Given the description of an element on the screen output the (x, y) to click on. 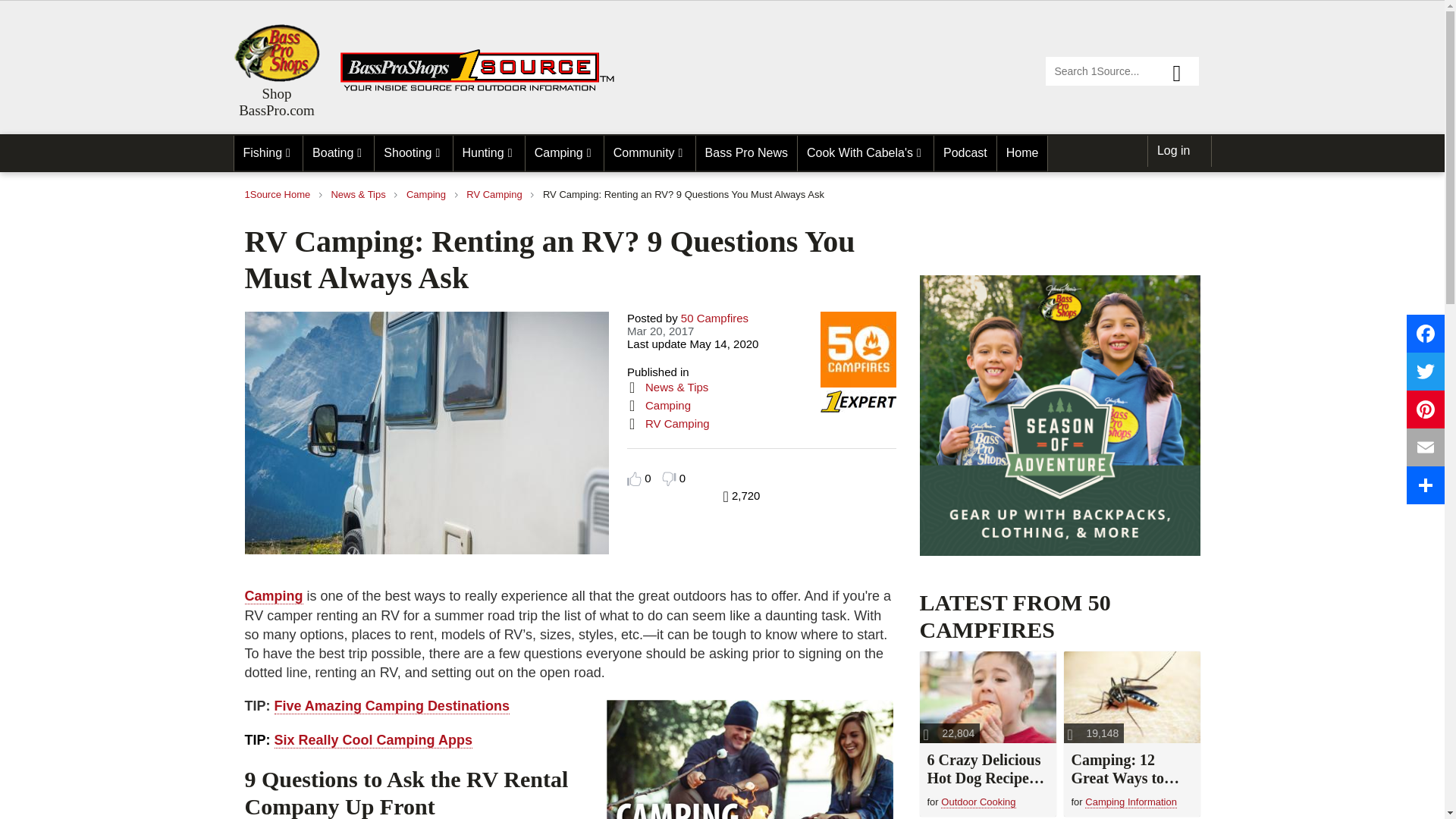
Shop BassPro.com (276, 52)
Search (1183, 71)
Shop BassPro.com (276, 101)
Shooting (413, 153)
Fishing (268, 153)
Search (1183, 71)
Enter the terms you wish to search for. (1121, 70)
Return to Bass Pro 1Source home (483, 88)
